Given the description of an element on the screen output the (x, y) to click on. 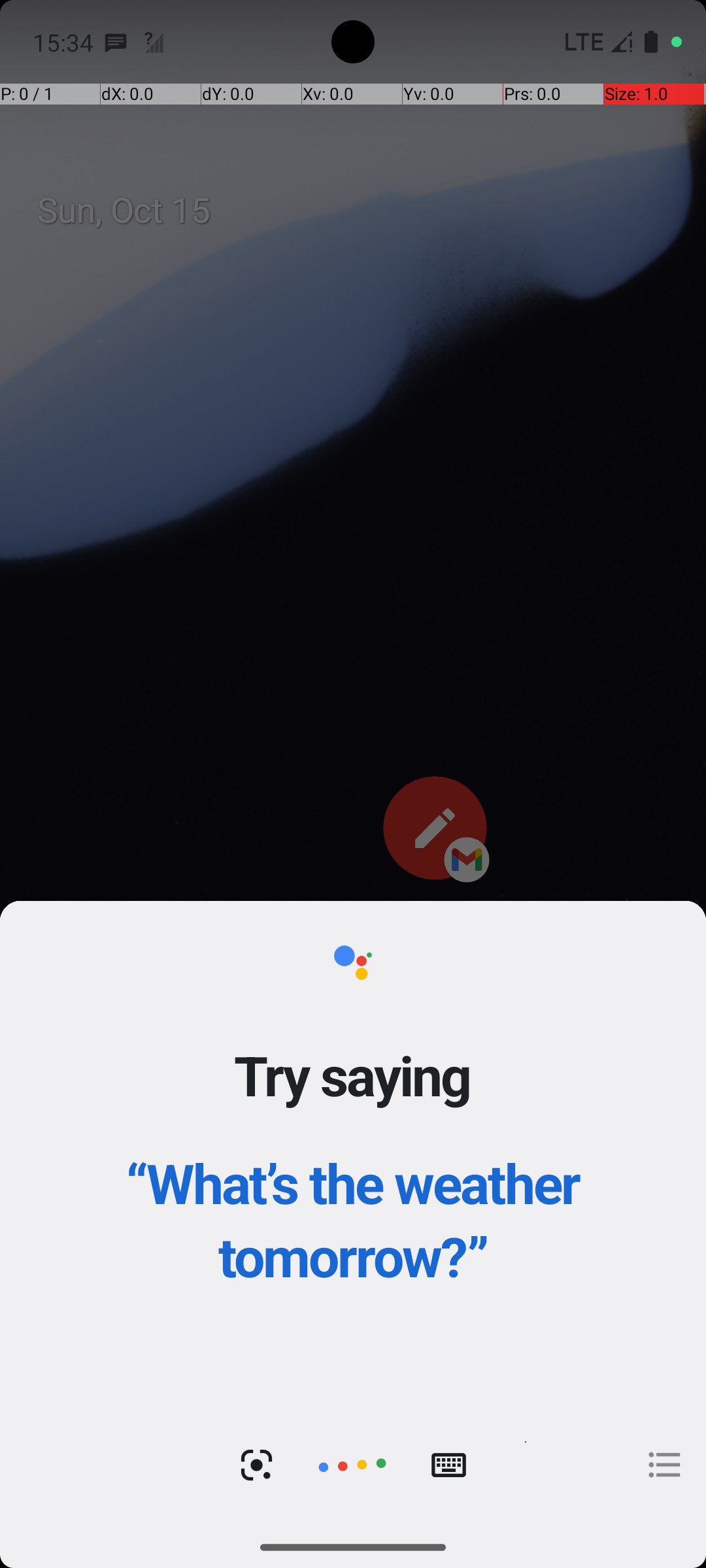
Tap to dismiss Assistant Element type: android.view.ViewGroup (353, 804)
Google Assistant widget. Element type: android.support.v7.widget.RecyclerView (353, 1213)
Google Assistant greeting container. Element type: android.widget.LinearLayout (353, 1151)
Tap to cancel Element type: android.view.View (351, 1465)
Type mode Element type: android.widget.ImageView (448, 1465)
Google Assistant greeting. Element type: android.widget.FrameLayout (353, 1213)
Open explore page Element type: android.widget.ImageView (664, 1464)
Try saying Element type: android.widget.TextView (352, 1074)
“What’s the weather tomorrow?” Element type: android.widget.TextView (352, 1218)
